Given the description of an element on the screen output the (x, y) to click on. 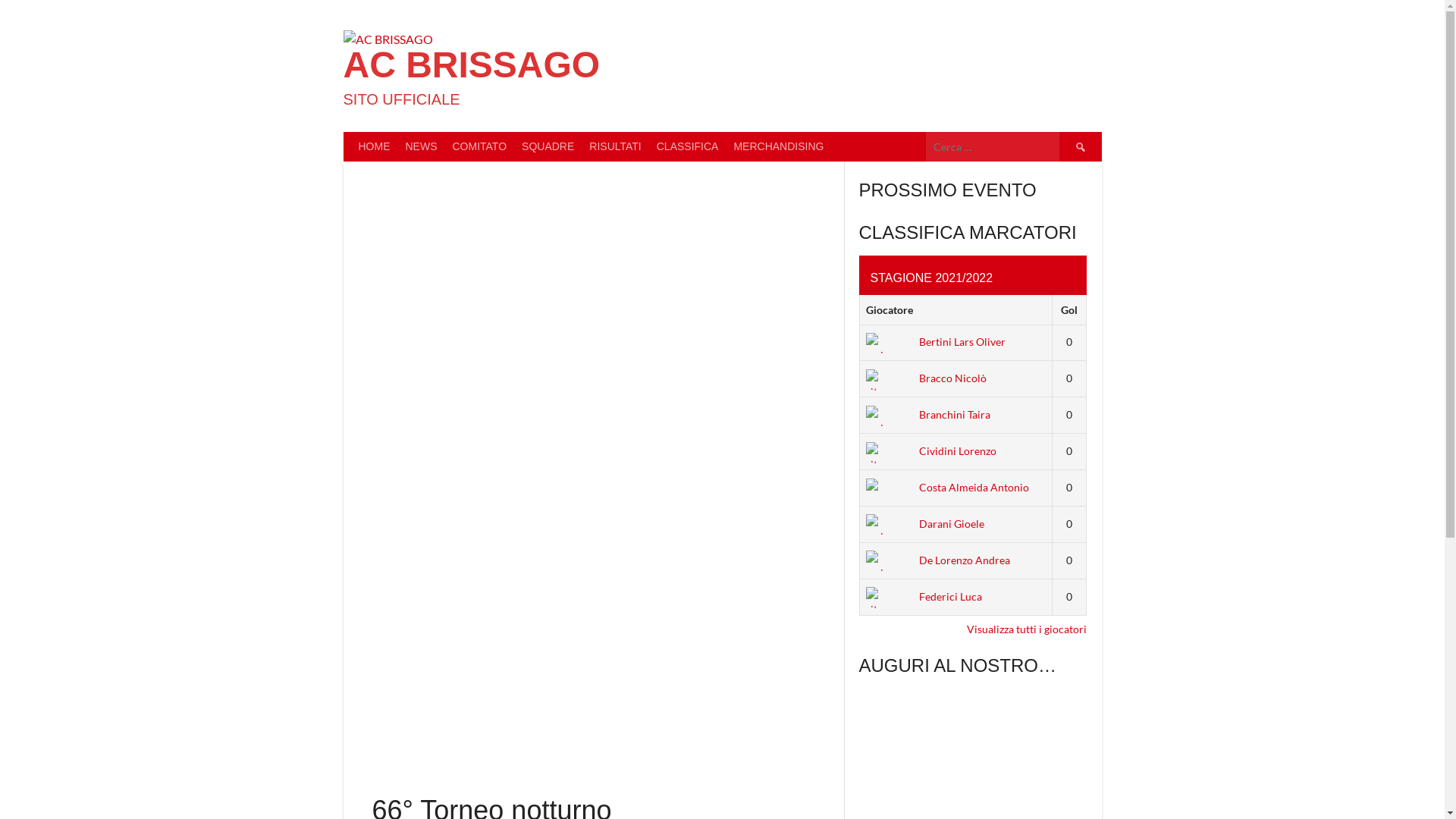
CLASSIFICA Element type: text (687, 146)
MERCHANDISING Element type: text (778, 146)
Costa Almeida Antonio Element type: text (947, 486)
COMITATO Element type: text (479, 146)
Cividini Lorenzo Element type: text (931, 450)
AC BRISSAGO Element type: text (470, 64)
Darani Gioele Element type: text (925, 523)
RISULTATI Element type: text (614, 146)
SQUADRE Element type: text (547, 146)
Cerca Element type: hover (1079, 146)
Visualizza tutti i giocatori Element type: text (1025, 628)
Branchini Taira Element type: text (928, 413)
NEWS Element type: text (420, 146)
Federici Luca Element type: text (924, 595)
De Lorenzo Andrea Element type: text (938, 559)
Bertini Lars Oliver Element type: text (935, 341)
HOME Element type: text (373, 146)
